Given the description of an element on the screen output the (x, y) to click on. 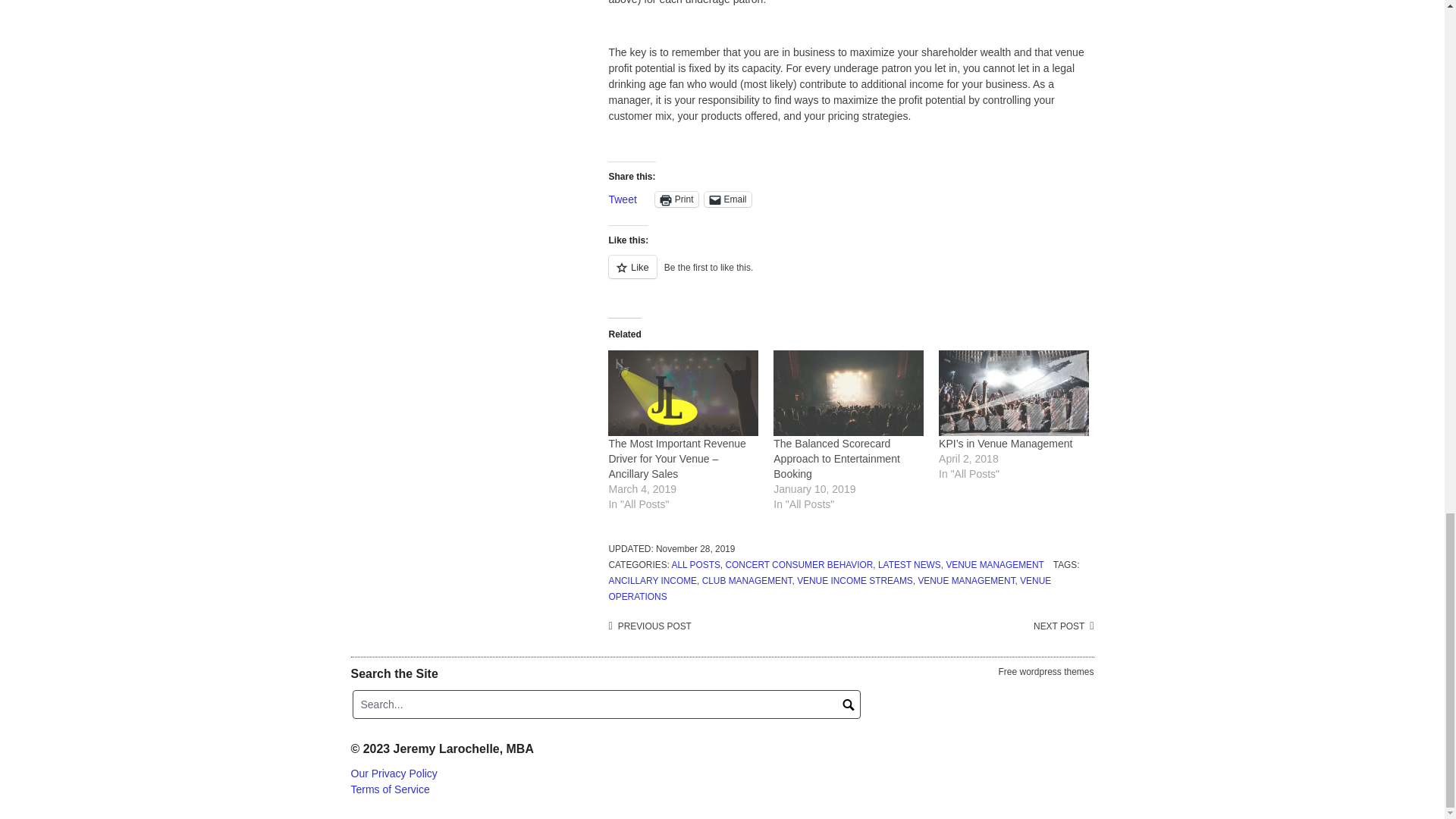
ALL POSTS (695, 564)
Tweet (622, 198)
The Balanced Scorecard Approach to Entertainment Booking (836, 458)
Like or Reblog (850, 275)
November 28, 2019 (695, 548)
Click to email a link to a friend (727, 199)
Click to print (676, 199)
The Balanced Scorecard Approach to Entertainment Booking (836, 458)
Email (727, 199)
CONCERT CONSUMER BEHAVIOR (798, 564)
